Given the description of an element on the screen output the (x, y) to click on. 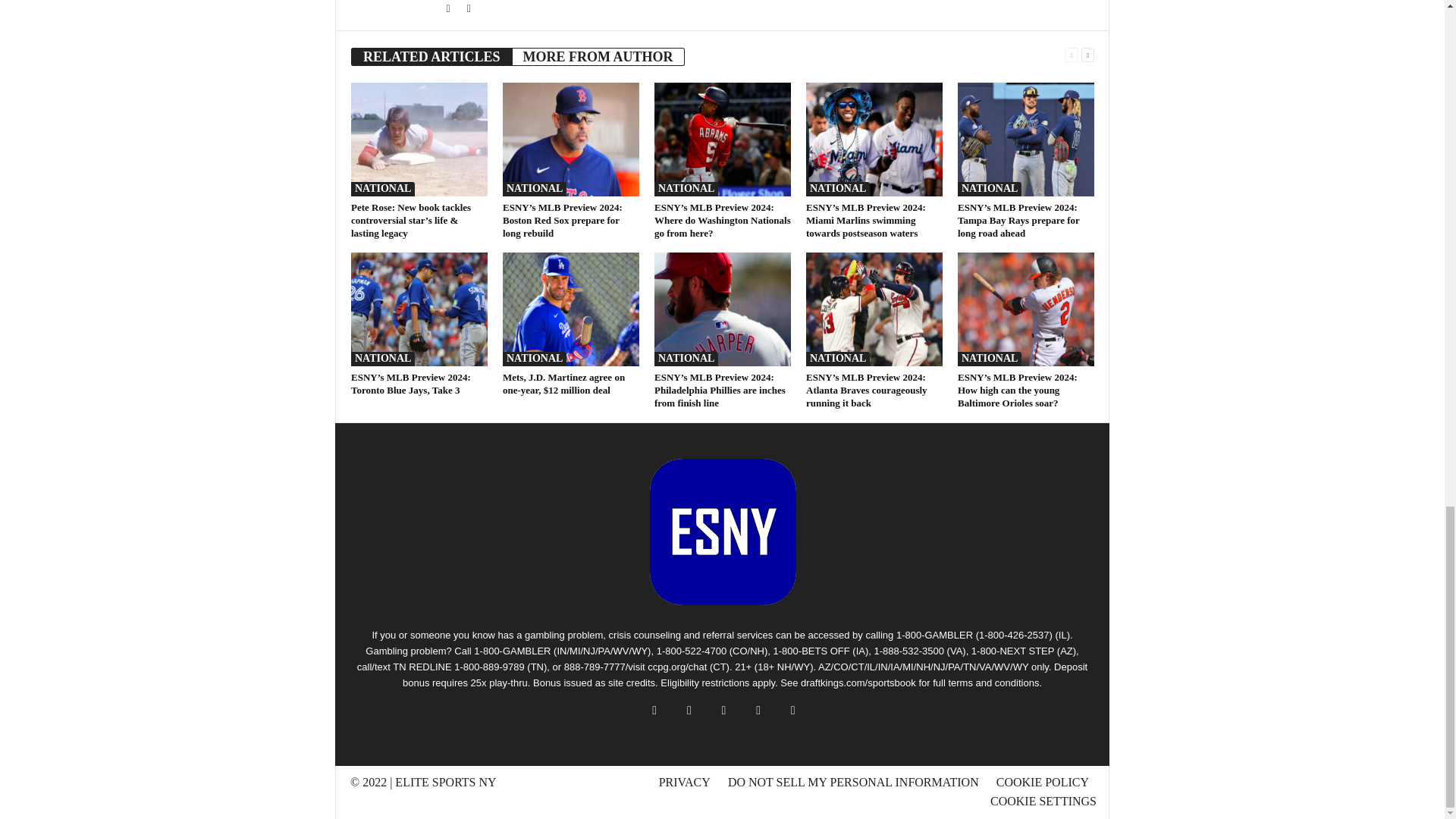
Facebook (449, 9)
Instagram (468, 9)
